Given the description of an element on the screen output the (x, y) to click on. 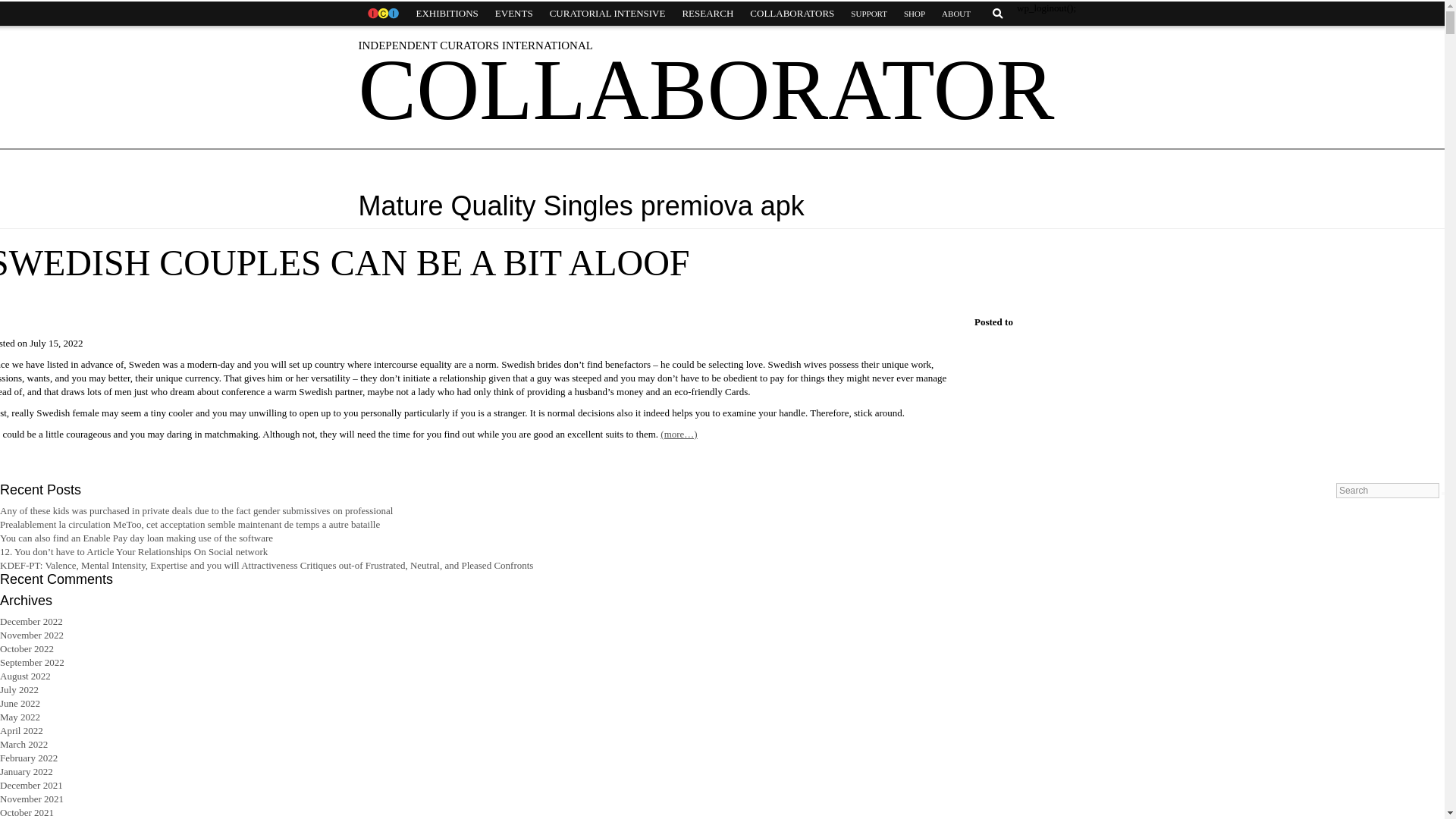
COLLABORATORS (792, 13)
RESEARCH (706, 13)
EVENTS (513, 13)
EXHIBITIONS (446, 13)
CURATORIAL INTENSIVE (607, 13)
HOME (382, 13)
